Given the description of an element on the screen output the (x, y) to click on. 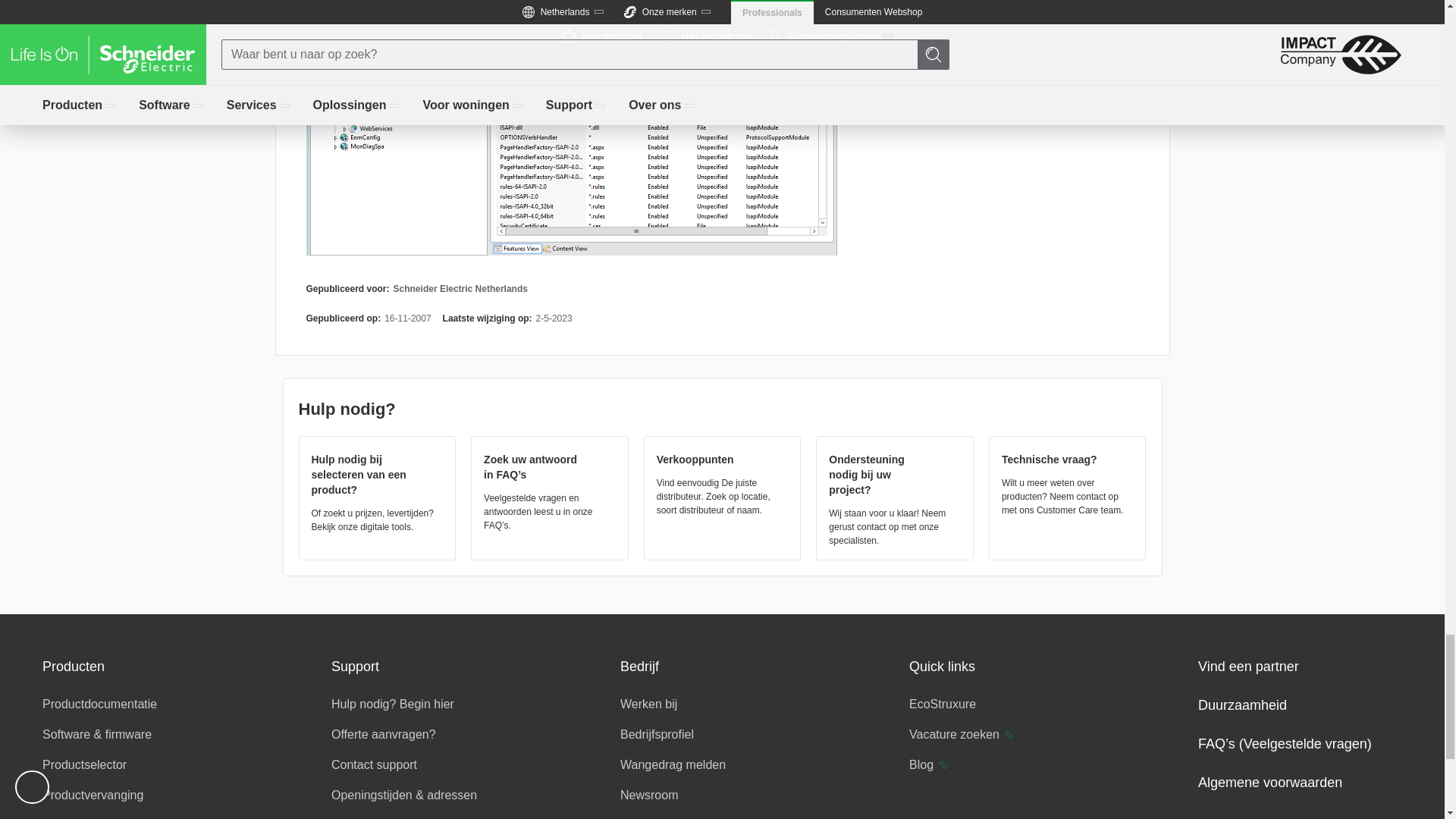
Hulp nodig bij selecteren van een product?  (376, 491)
Ondersteuning nodig bij uw project? (894, 497)
Verkooppunten (722, 482)
Productdocumentatie (99, 704)
Productselector (84, 764)
Productvervanging (92, 795)
Technische vraag? (1067, 482)
